Given the description of an element on the screen output the (x, y) to click on. 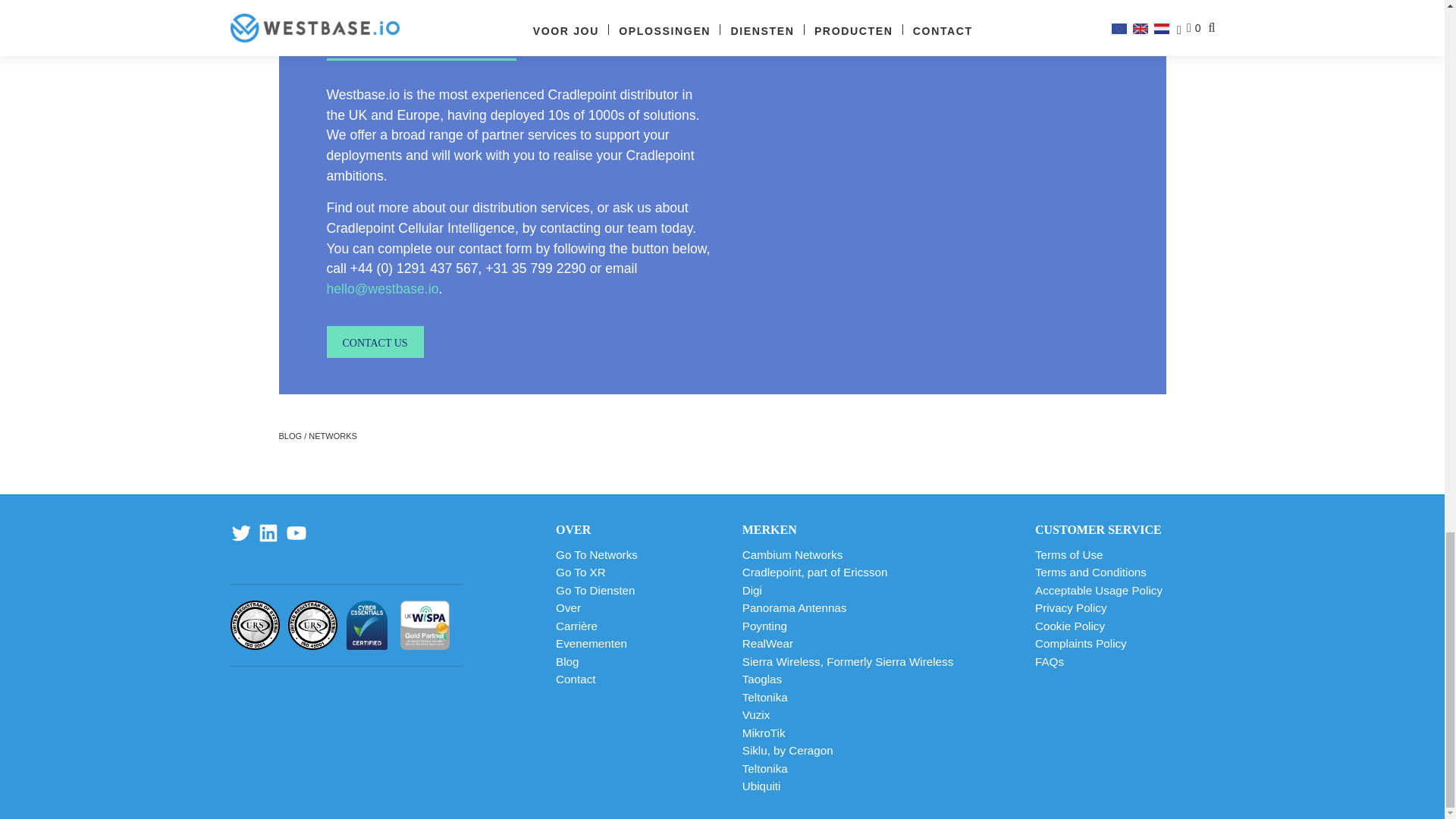
Contact (374, 341)
